Given the description of an element on the screen output the (x, y) to click on. 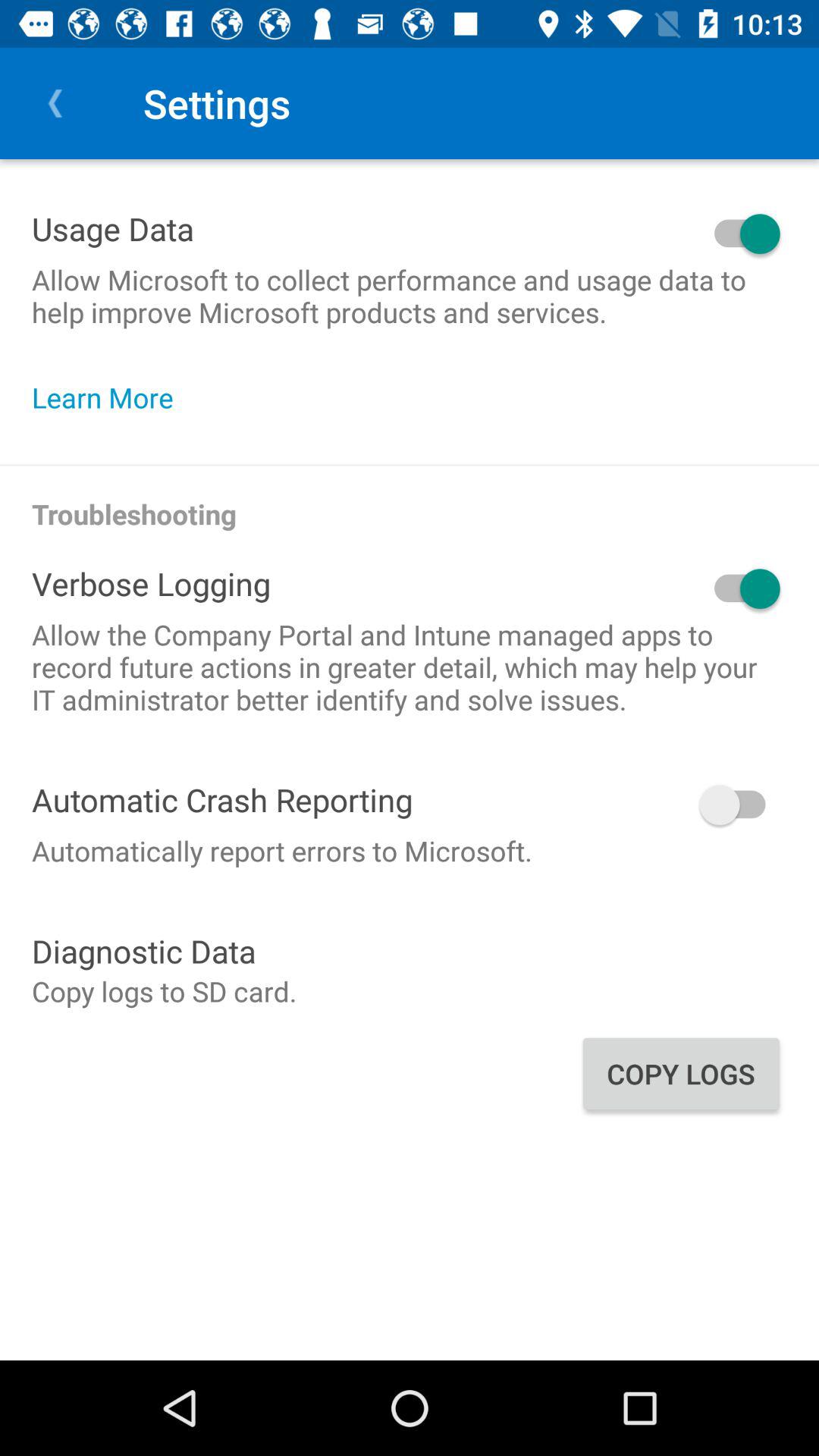
turn off the learn more (110, 397)
